Given the description of an element on the screen output the (x, y) to click on. 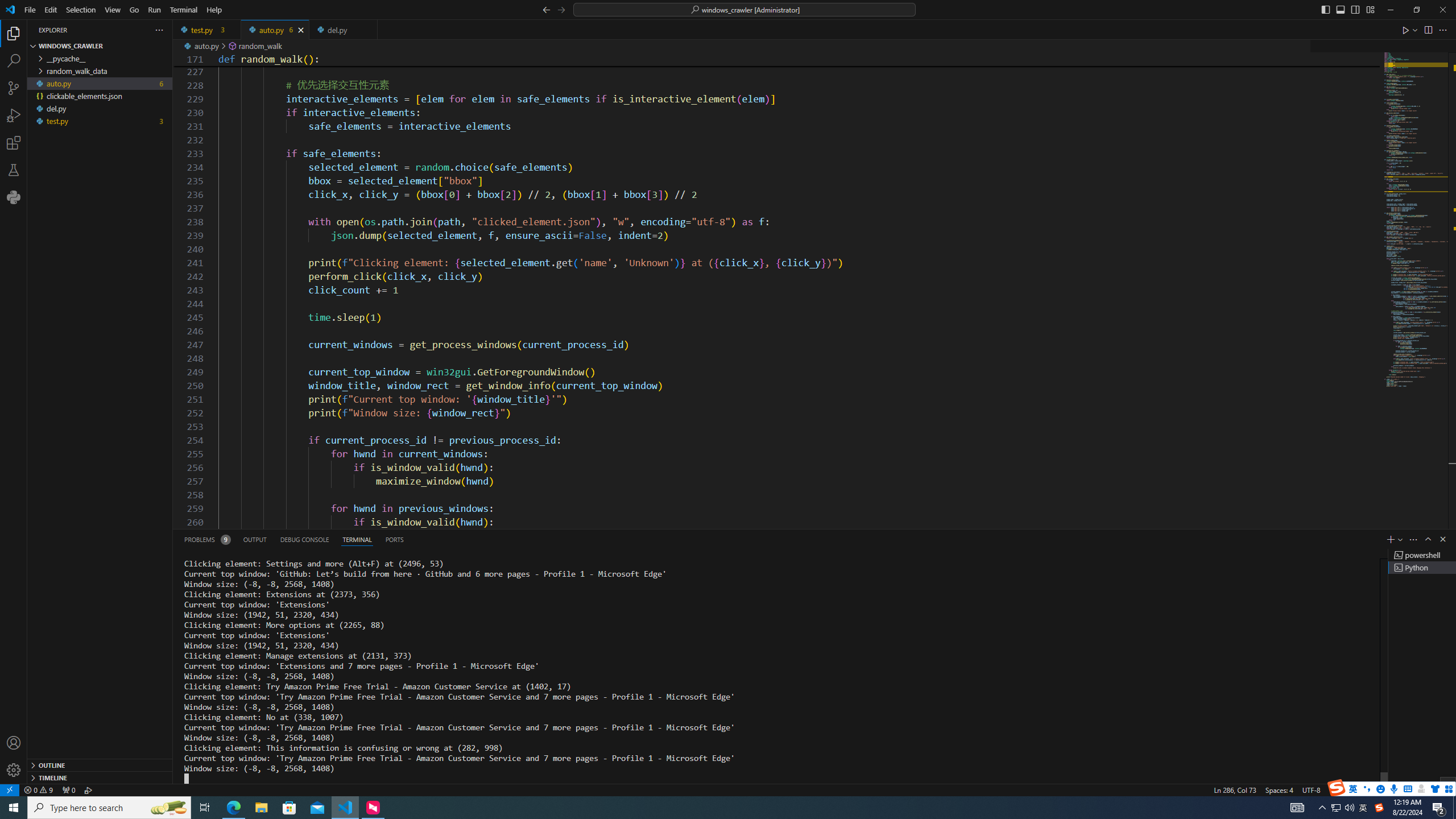
Terminal 1 powershell (1422, 554)
Debug Console (Ctrl+Shift+Y) (304, 539)
Customize Layout... (1369, 9)
Terminal 5 Python (1422, 567)
Title actions (1347, 9)
Problems (Ctrl+Shift+M) - Total 9 Problems (206, 539)
Hide Panel (1442, 539)
Run and Debug (Ctrl+Shift+D) (13, 115)
Source Control (Ctrl+Shift+G) (13, 87)
Python (13, 197)
Tab actions (369, 29)
